Given the description of an element on the screen output the (x, y) to click on. 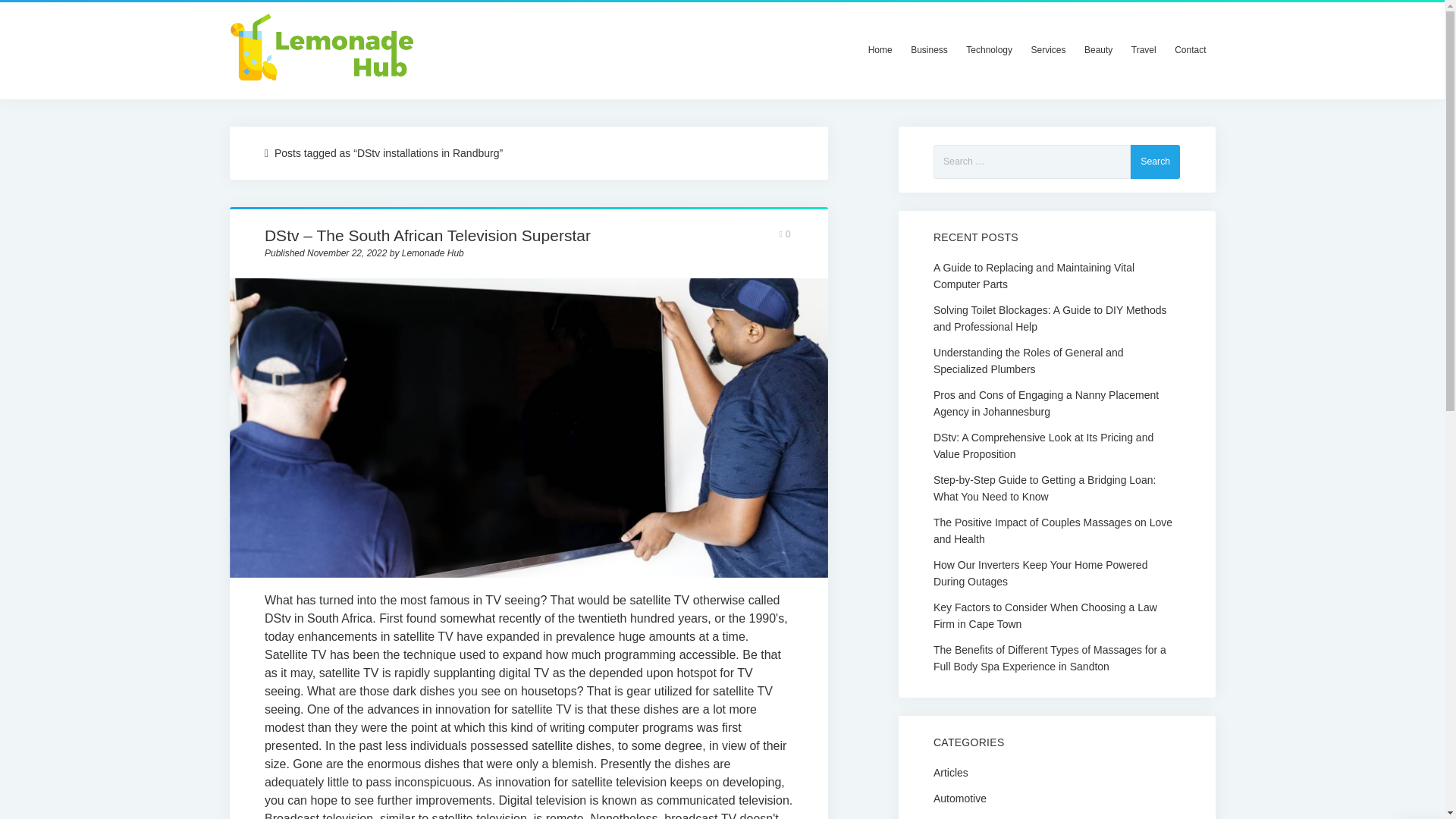
Search (1155, 161)
How Our Inverters Keep Your Home Powered During Outages (1056, 572)
Automotive (960, 797)
A Guide to Replacing and Maintaining Vital Computer Parts (1056, 275)
Home (880, 49)
Travel (1144, 49)
Services (1048, 49)
Understanding the Roles of General and Specialized Plumbers (1056, 360)
Beauty (1098, 49)
Technology (989, 49)
Business (928, 49)
